Given the description of an element on the screen output the (x, y) to click on. 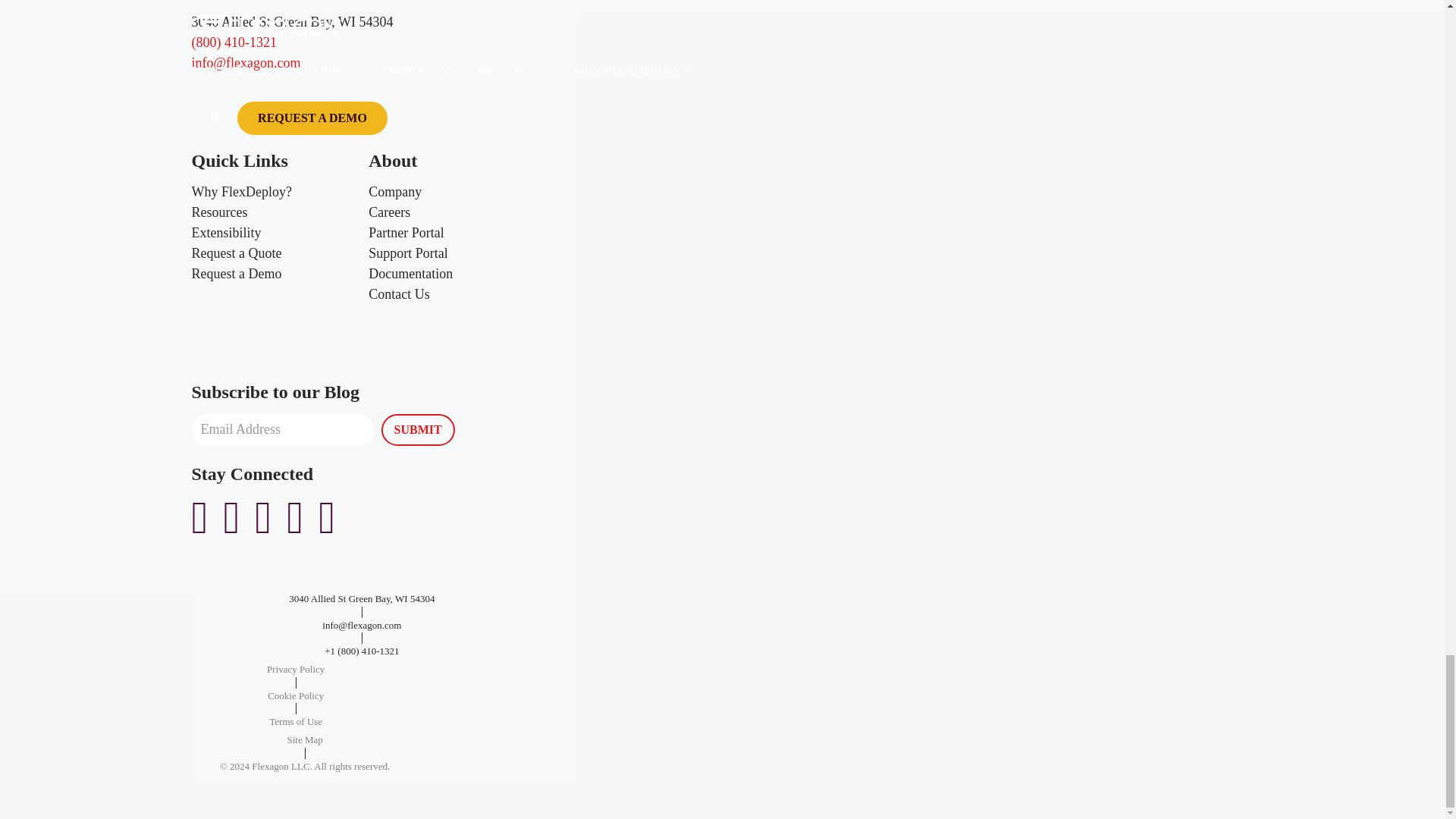
Submit (417, 429)
